Given the description of an element on the screen output the (x, y) to click on. 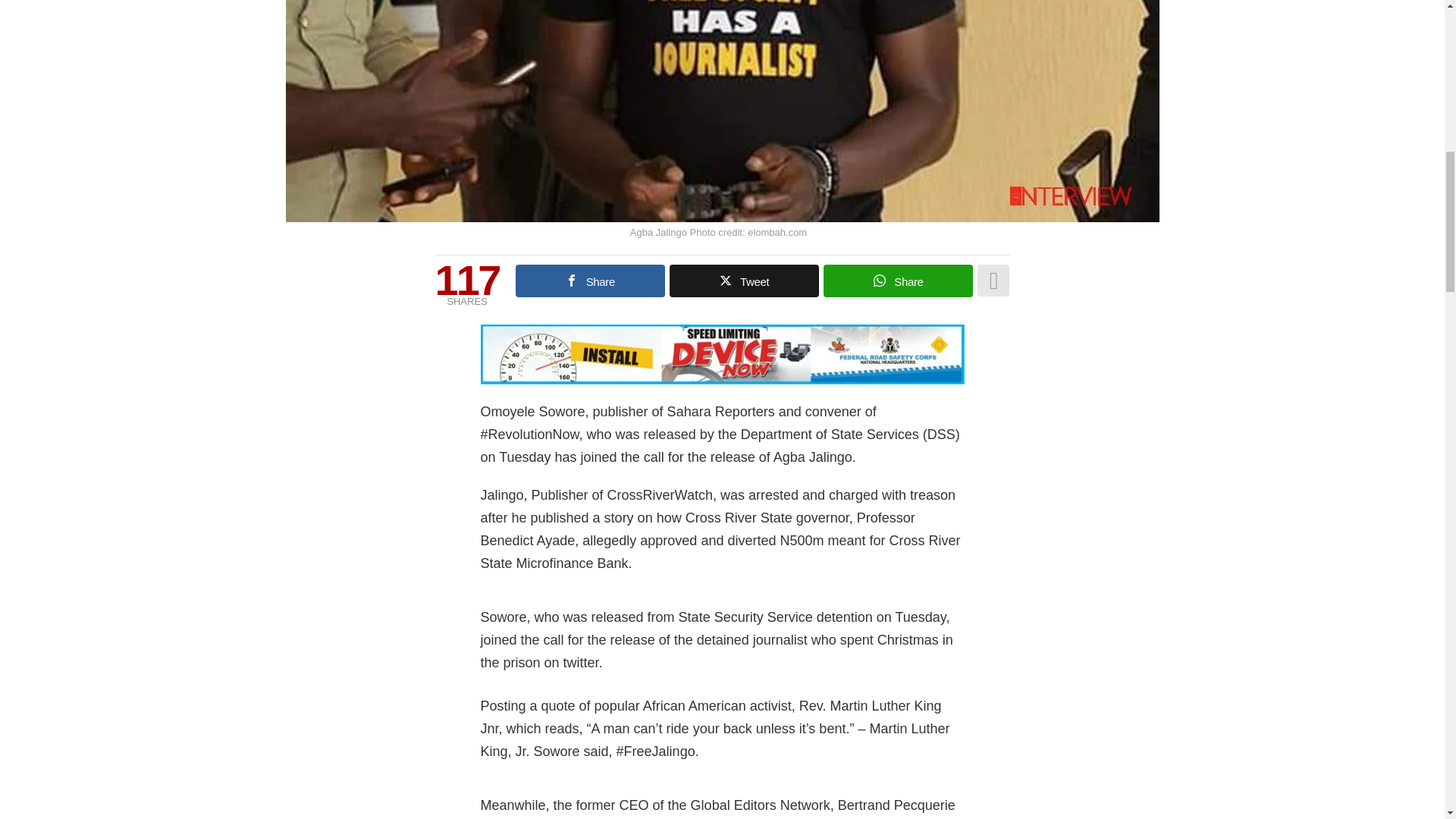
Share (590, 280)
Tweet (743, 280)
Share (898, 280)
